Given the description of an element on the screen output the (x, y) to click on. 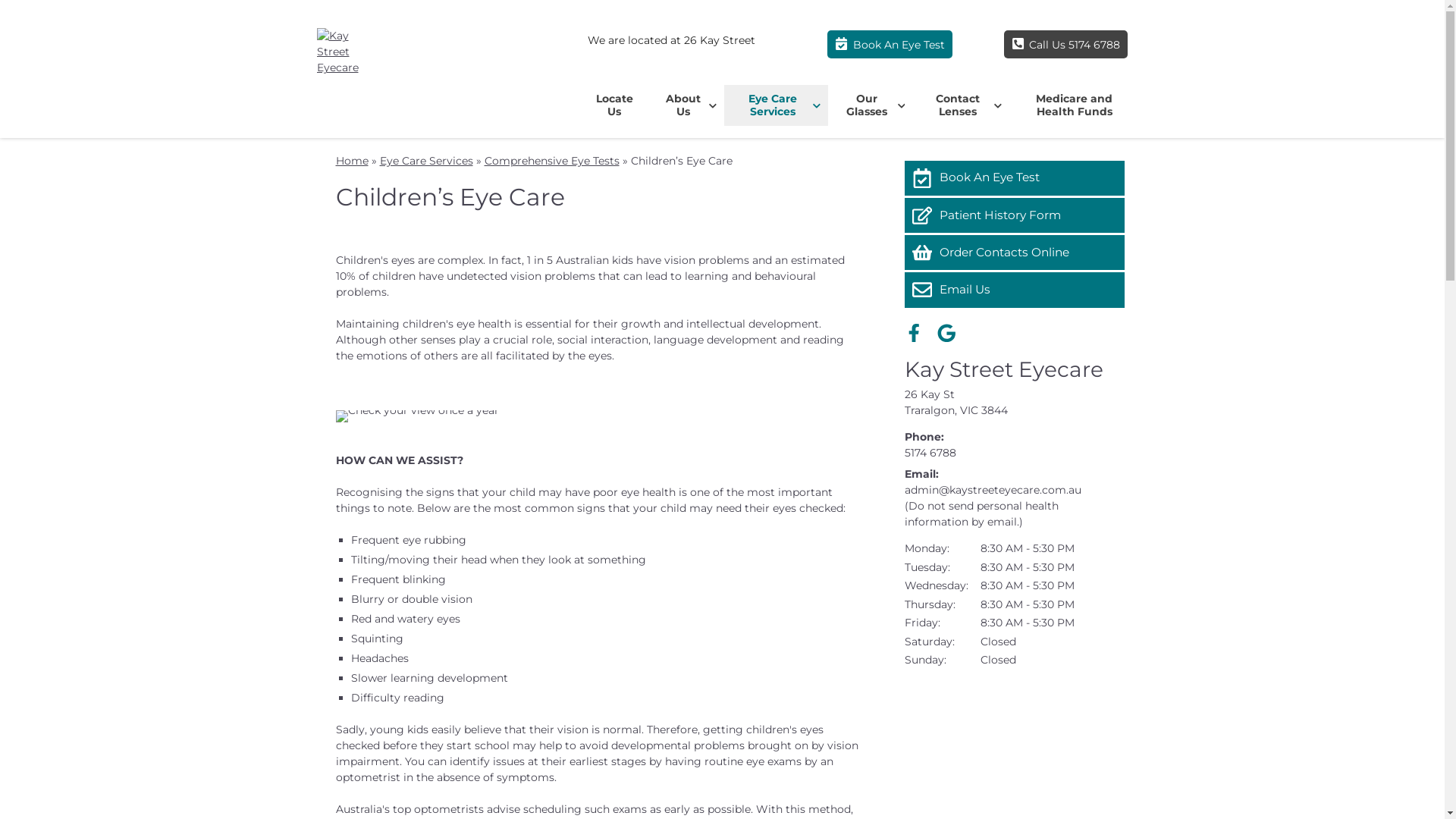
We are located at 26 Kay Street Element type: text (671, 39)
About Us Element type: text (686, 104)
Home Element type: text (351, 160)
Locate Us Element type: text (614, 104)
Medicare and Health Funds Element type: text (1074, 104)
admin@kaystreeteyecare.com.au Element type: text (991, 489)
Eye Care Services Element type: text (425, 160)
Our Glasses Element type: text (870, 104)
Book An Eye Test Element type: text (889, 44)
Comprehensive Eye Tests Element type: text (550, 160)
Contact Lenses Element type: text (960, 104)
Call Us 5174 6788 Element type: text (1065, 44)
Order Contacts Online Element type: text (1013, 252)
5174 6788 Element type: text (929, 452)
Eye Care Services Element type: text (776, 104)
Kay Street Eyecare Element type: text (1002, 369)
Email Us Element type: text (1013, 289)
Book An Eye Test Element type: text (1013, 177)
Patient History Form Element type: text (1013, 214)
